Given the description of an element on the screen output the (x, y) to click on. 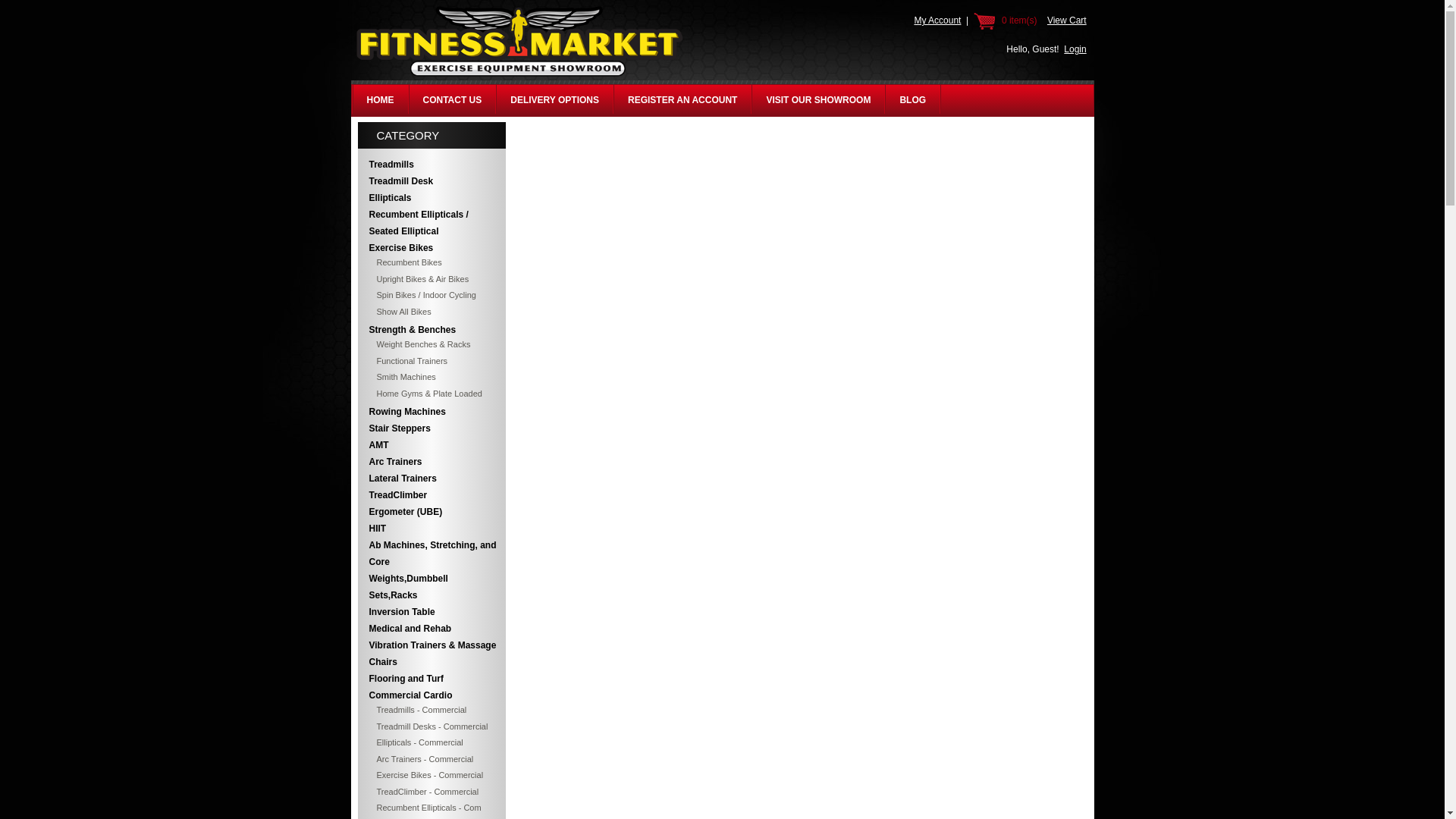
Login (1075, 49)
Ab Machines, Stretching, and Core (431, 553)
CONTACT US (452, 100)
HIIT (431, 528)
Treadmills (431, 164)
Treadmill Desk (431, 180)
Stair Steppers (431, 428)
BLOG (912, 100)
View Cart (1066, 20)
Rowing Machines (431, 411)
Show All Bikes (431, 310)
Exercise Bikes (431, 247)
HOME (380, 100)
TreadClimber (431, 494)
home (518, 76)
